Given the description of an element on the screen output the (x, y) to click on. 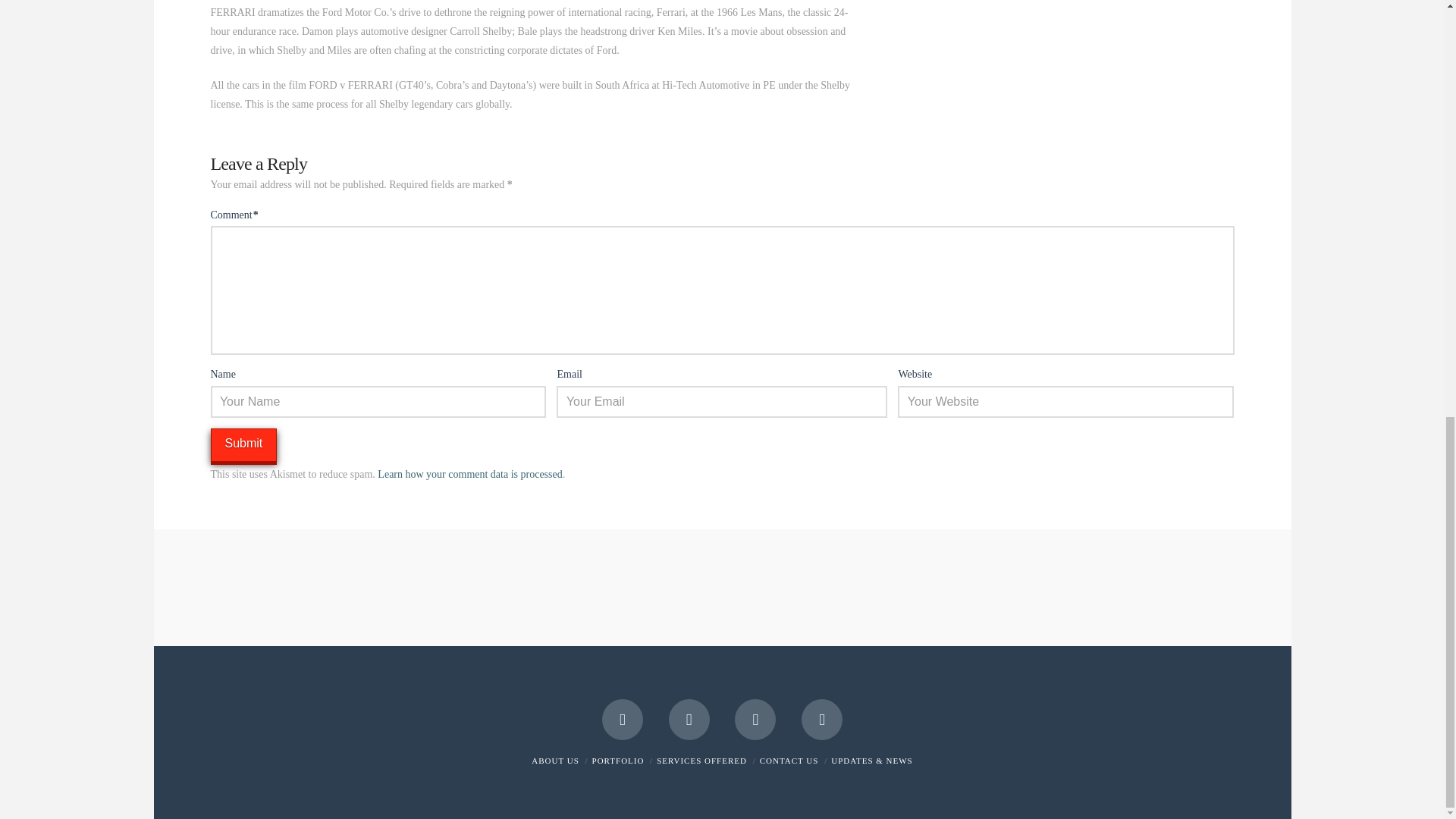
Facebook (622, 719)
SoundCloud (822, 719)
Submit (244, 445)
Instagram (755, 719)
YouTube (689, 719)
